Given the description of an element on the screen output the (x, y) to click on. 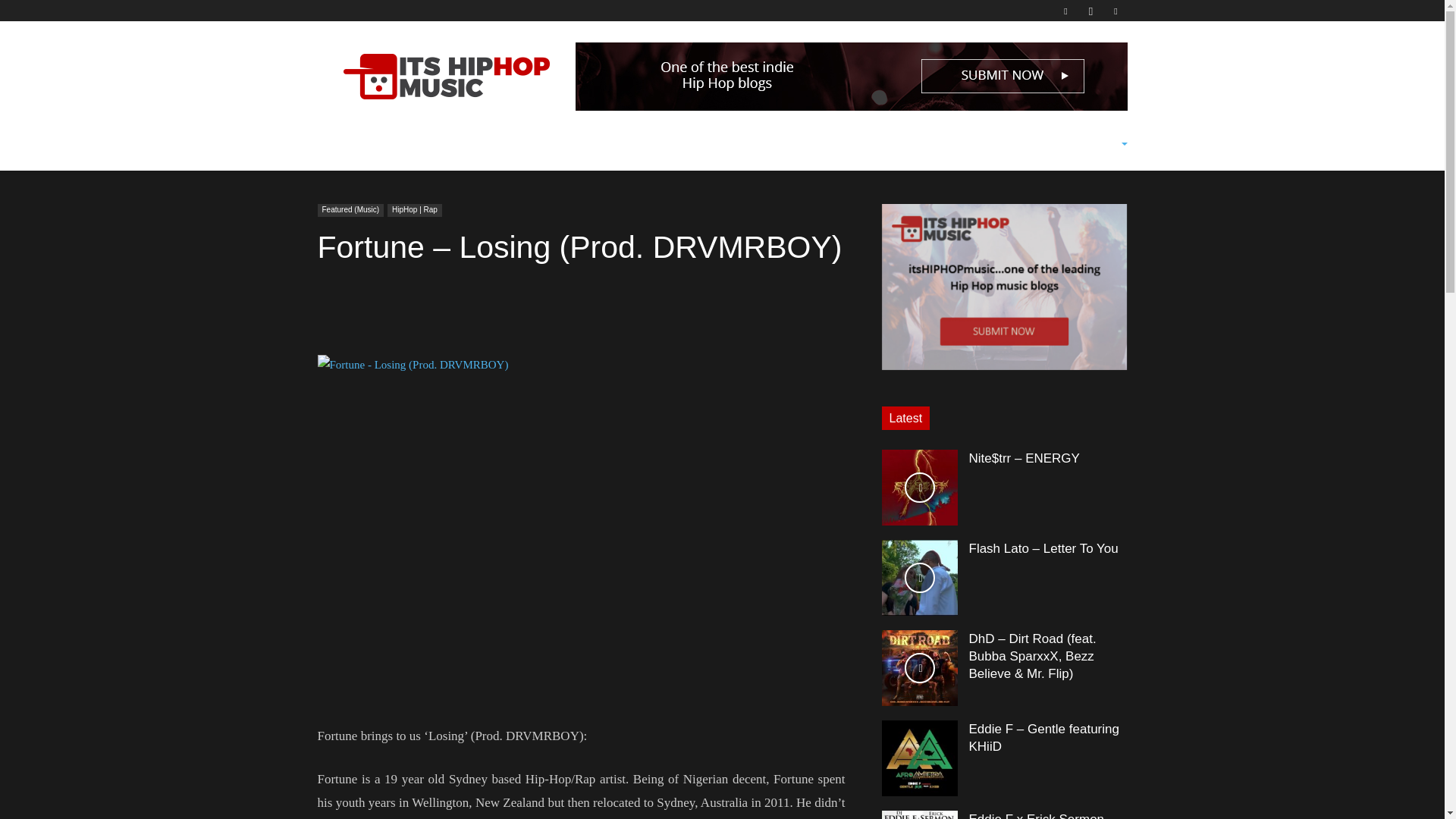
its Hip Hop Music (445, 76)
MUSIC (397, 143)
Search (1083, 213)
Facebook (1065, 10)
Instagram (1090, 10)
HOME (343, 143)
Twitter (1114, 10)
ARTIST (517, 143)
SUBMIT (584, 143)
VIDEOS (456, 143)
